Given the description of an element on the screen output the (x, y) to click on. 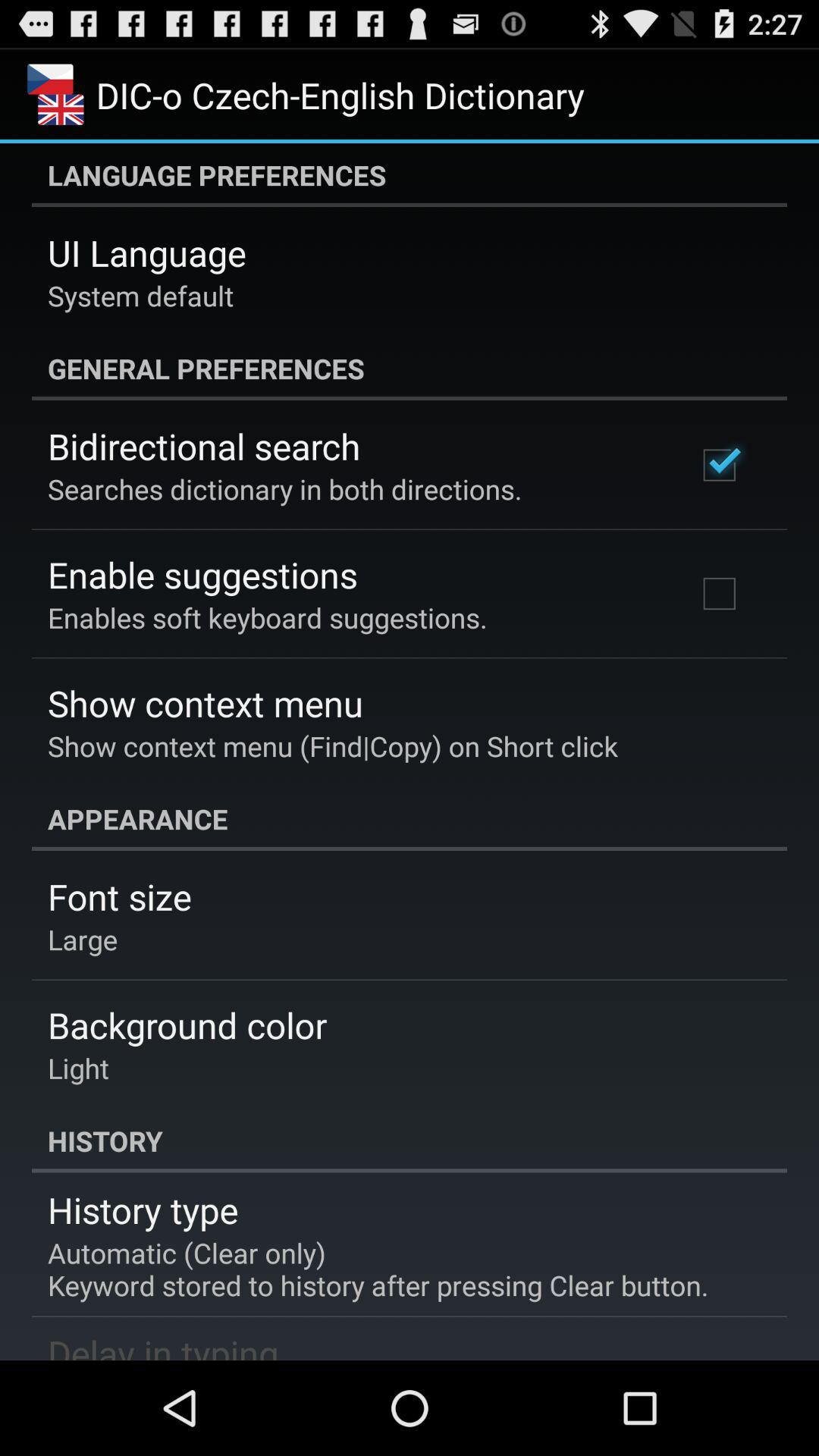
click app above ui language icon (409, 175)
